Given the description of an element on the screen output the (x, y) to click on. 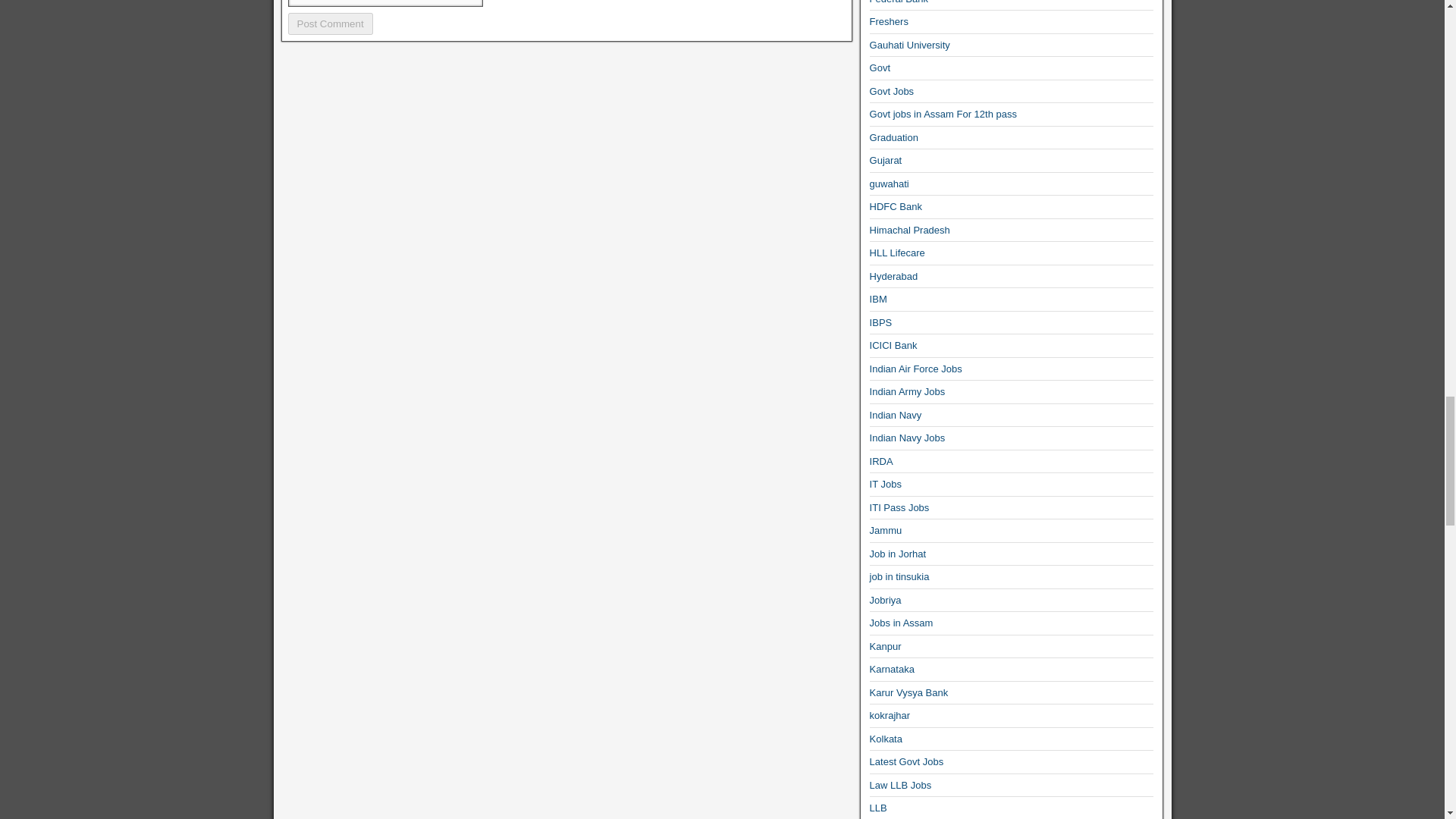
Post Comment (330, 24)
